Given the description of an element on the screen output the (x, y) to click on. 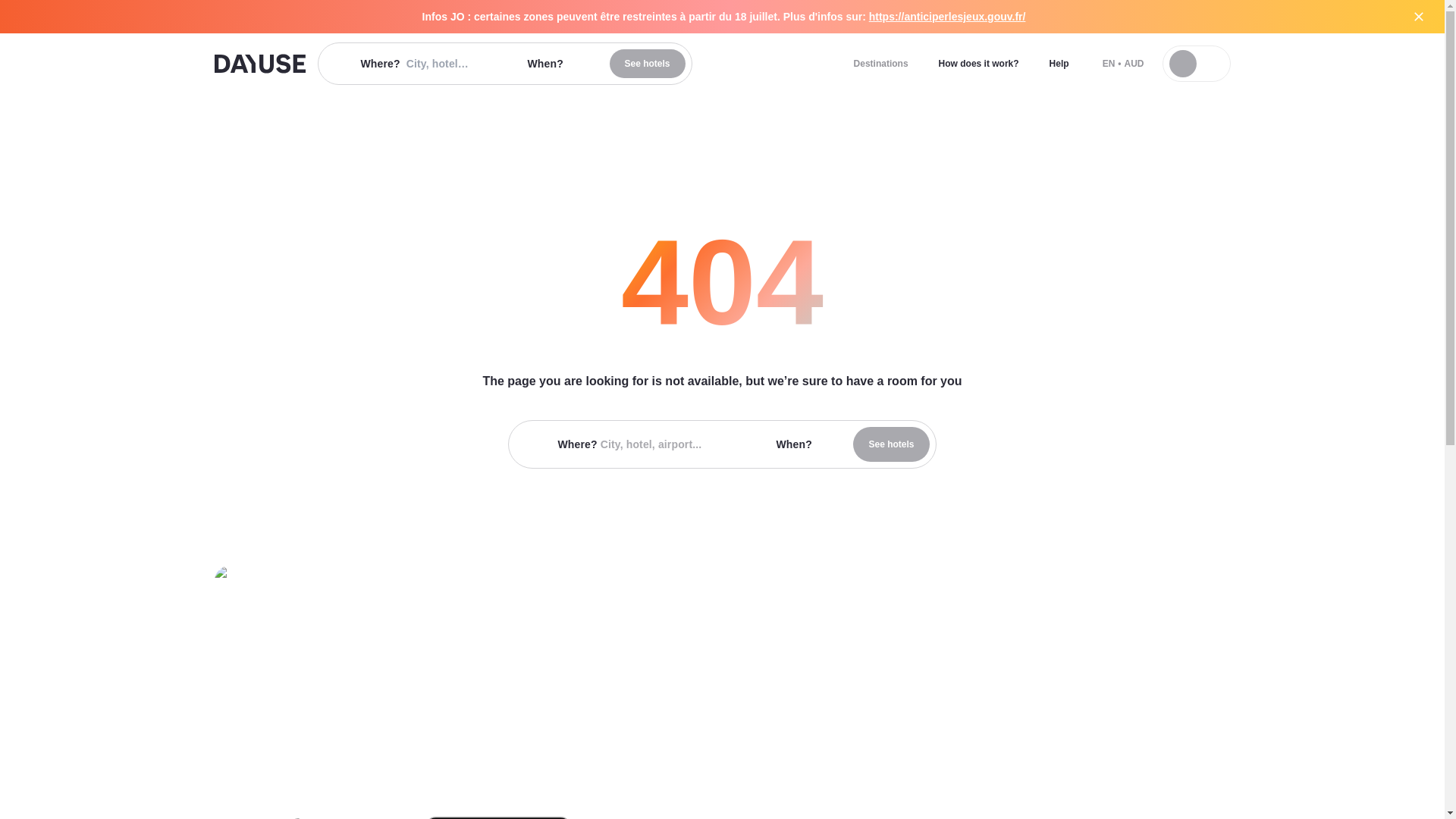
Dayuse (259, 63)
How does it work? (978, 62)
Help (1058, 62)
Destinations (880, 62)
See hotels (647, 63)
See hotels (890, 443)
